Given the description of an element on the screen output the (x, y) to click on. 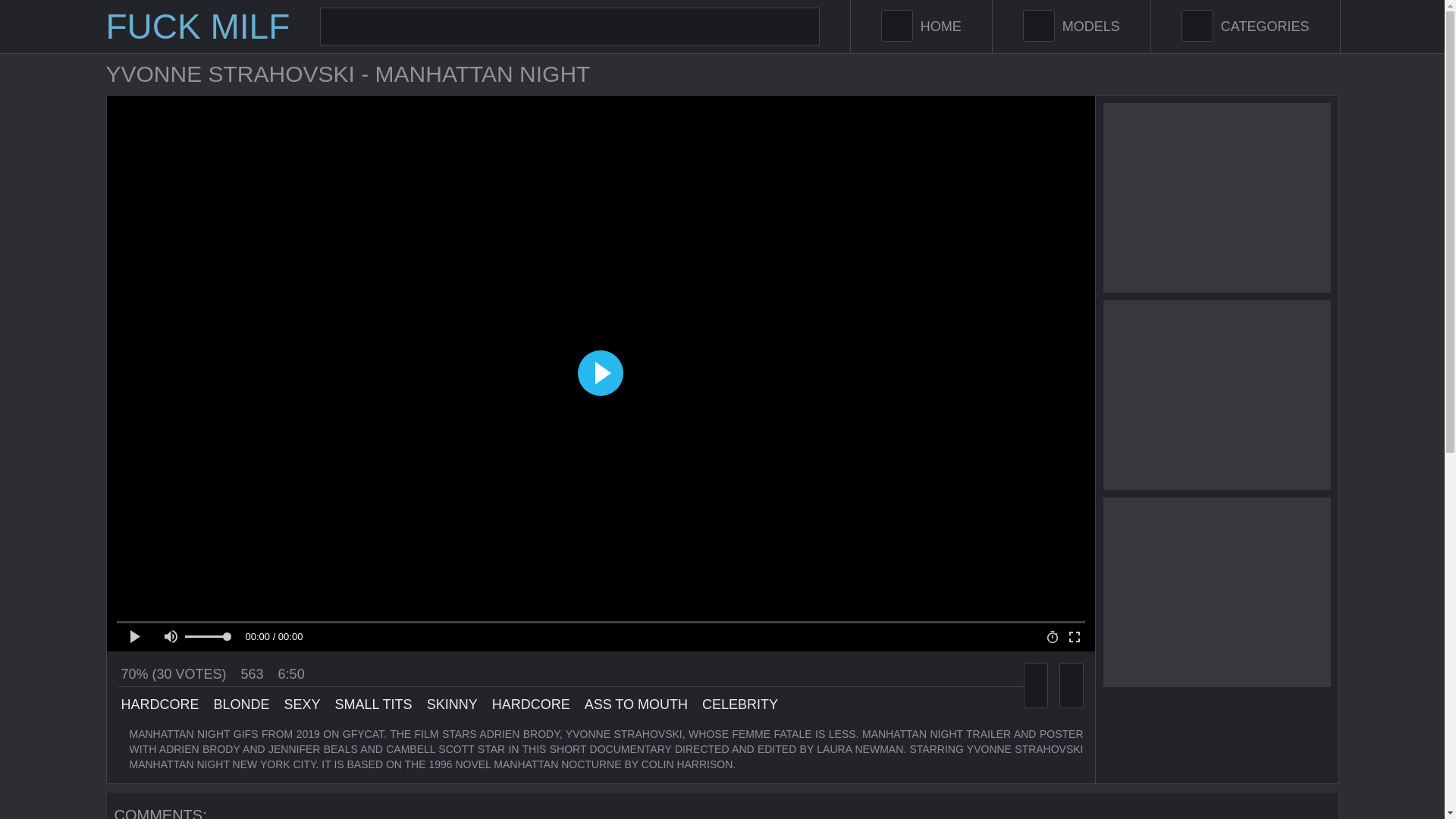
FUCK MILF (197, 26)
HARDCORE (158, 703)
HARDCORE (529, 703)
SKINNY (450, 703)
ASS TO MOUTH (633, 703)
BLONDE (240, 703)
HOME (920, 26)
SMALL TITS (371, 703)
CELEBRITY (737, 703)
MODELS (1071, 26)
